Given the description of an element on the screen output the (x, y) to click on. 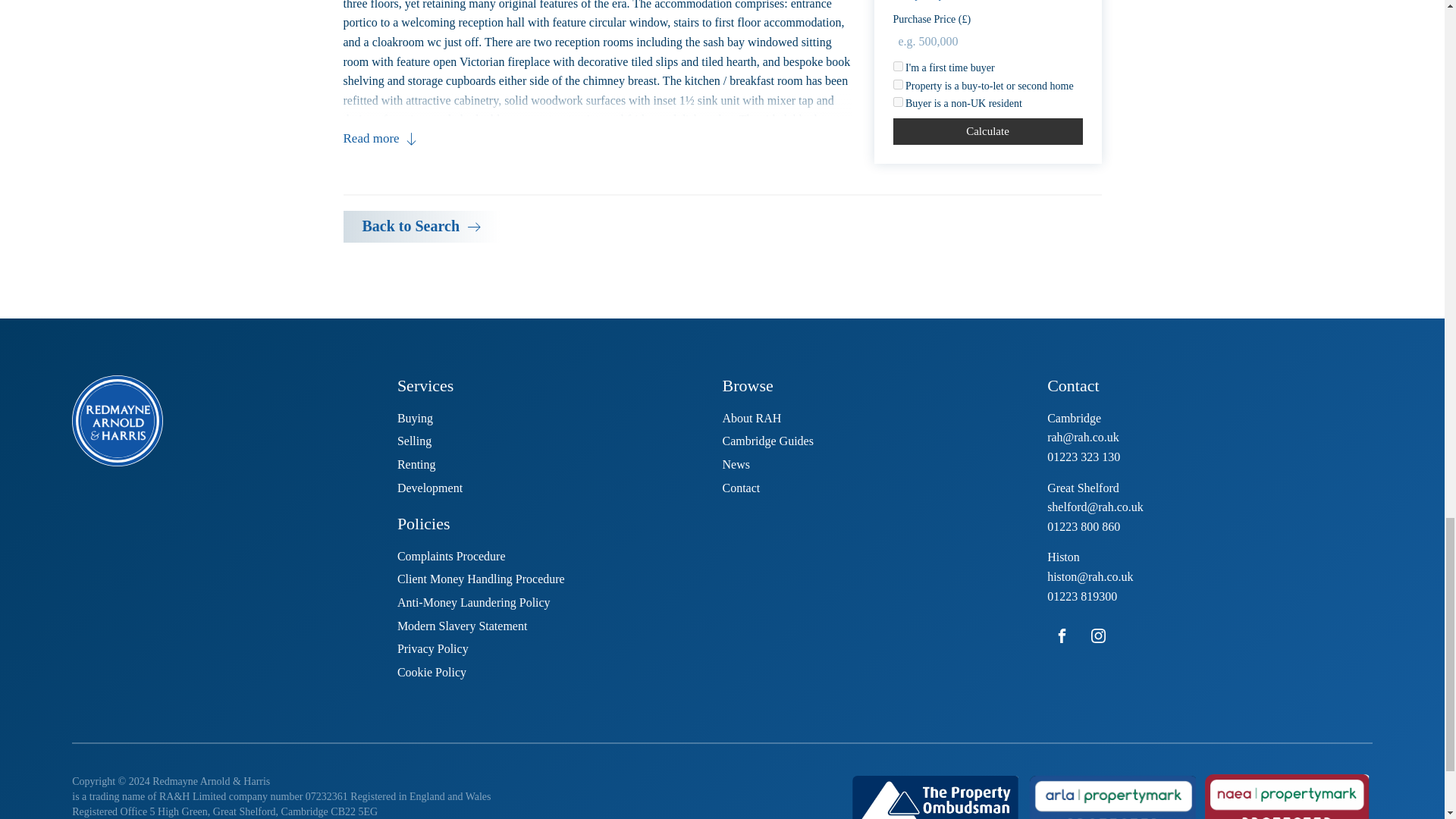
1 (897, 40)
1 (897, 4)
1 (897, 22)
